Given the description of an element on the screen output the (x, y) to click on. 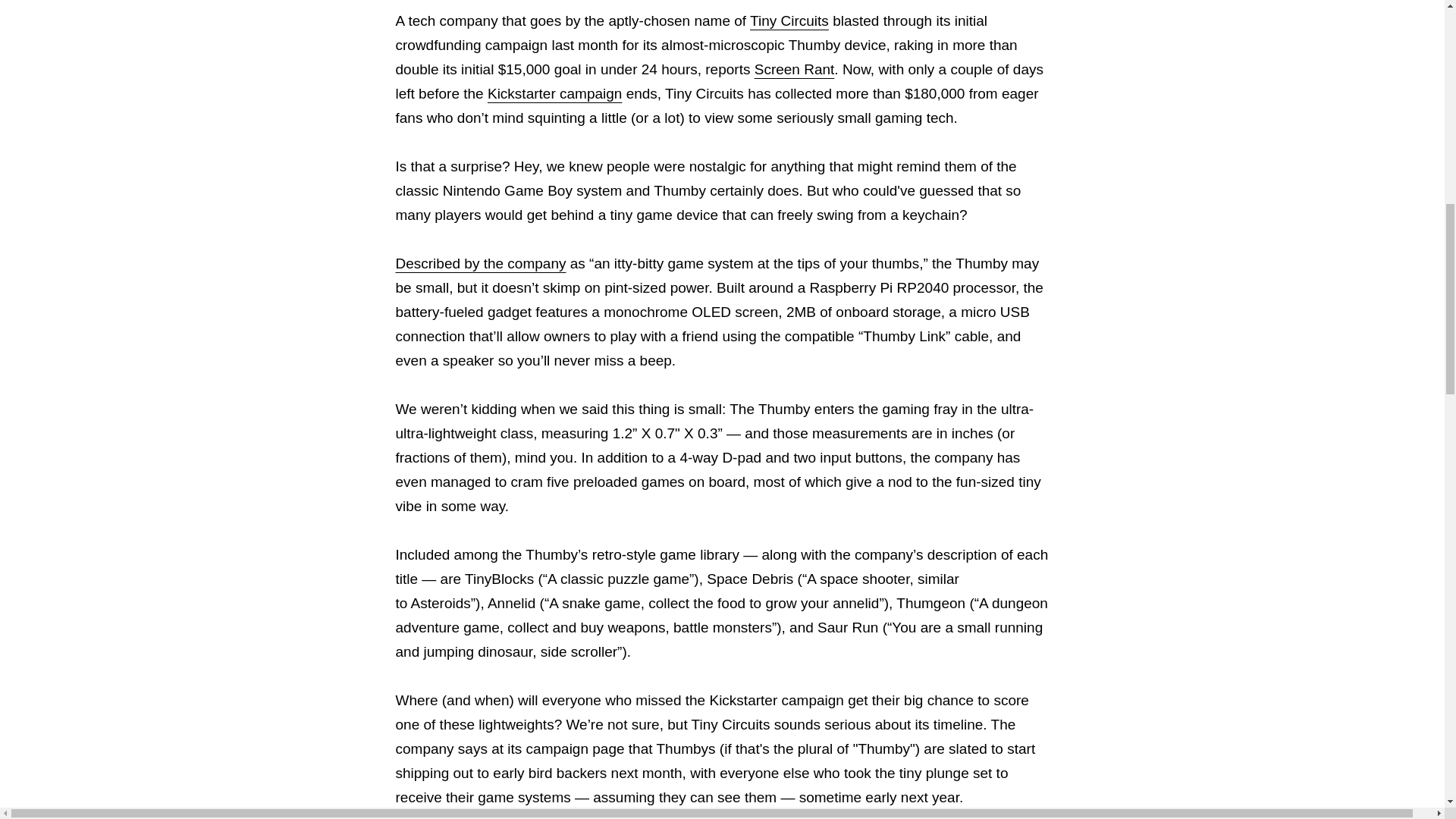
Tiny Circuits (788, 20)
Kickstarter campaign (554, 93)
Described by the company (481, 263)
Screen Rant (794, 68)
